Given the description of an element on the screen output the (x, y) to click on. 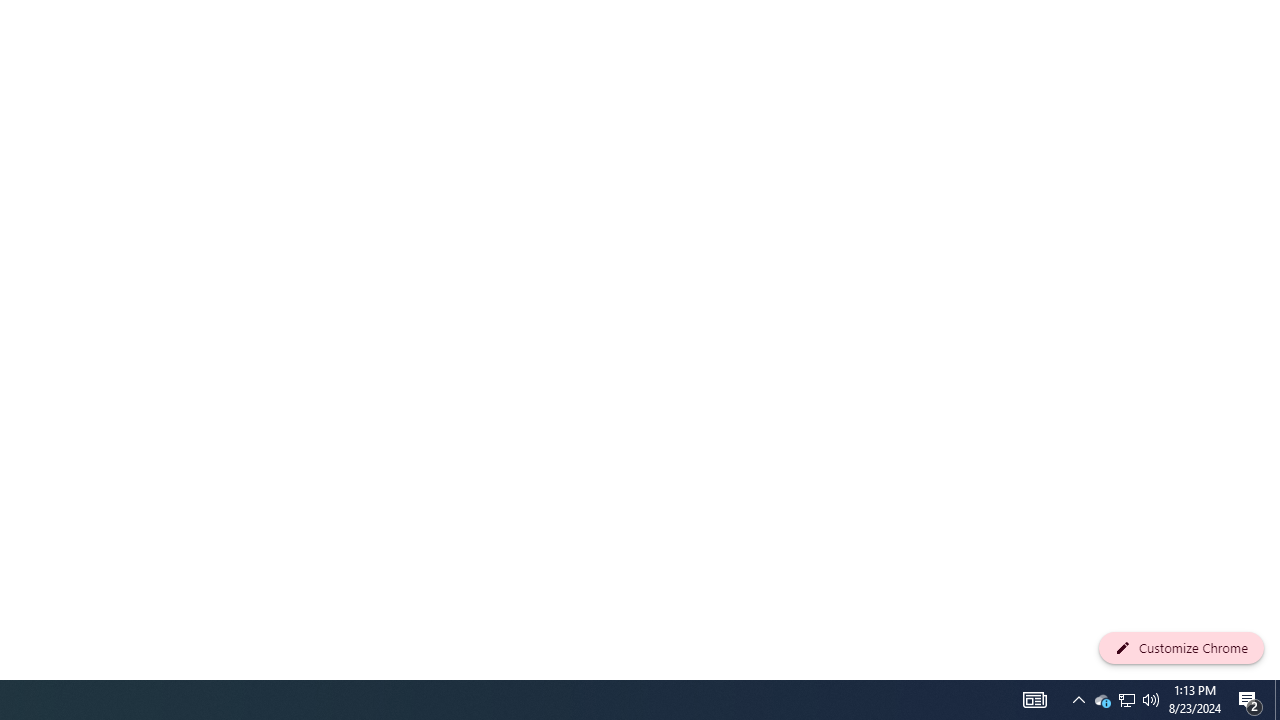
Customize Chrome (1181, 647)
